Given the description of an element on the screen output the (x, y) to click on. 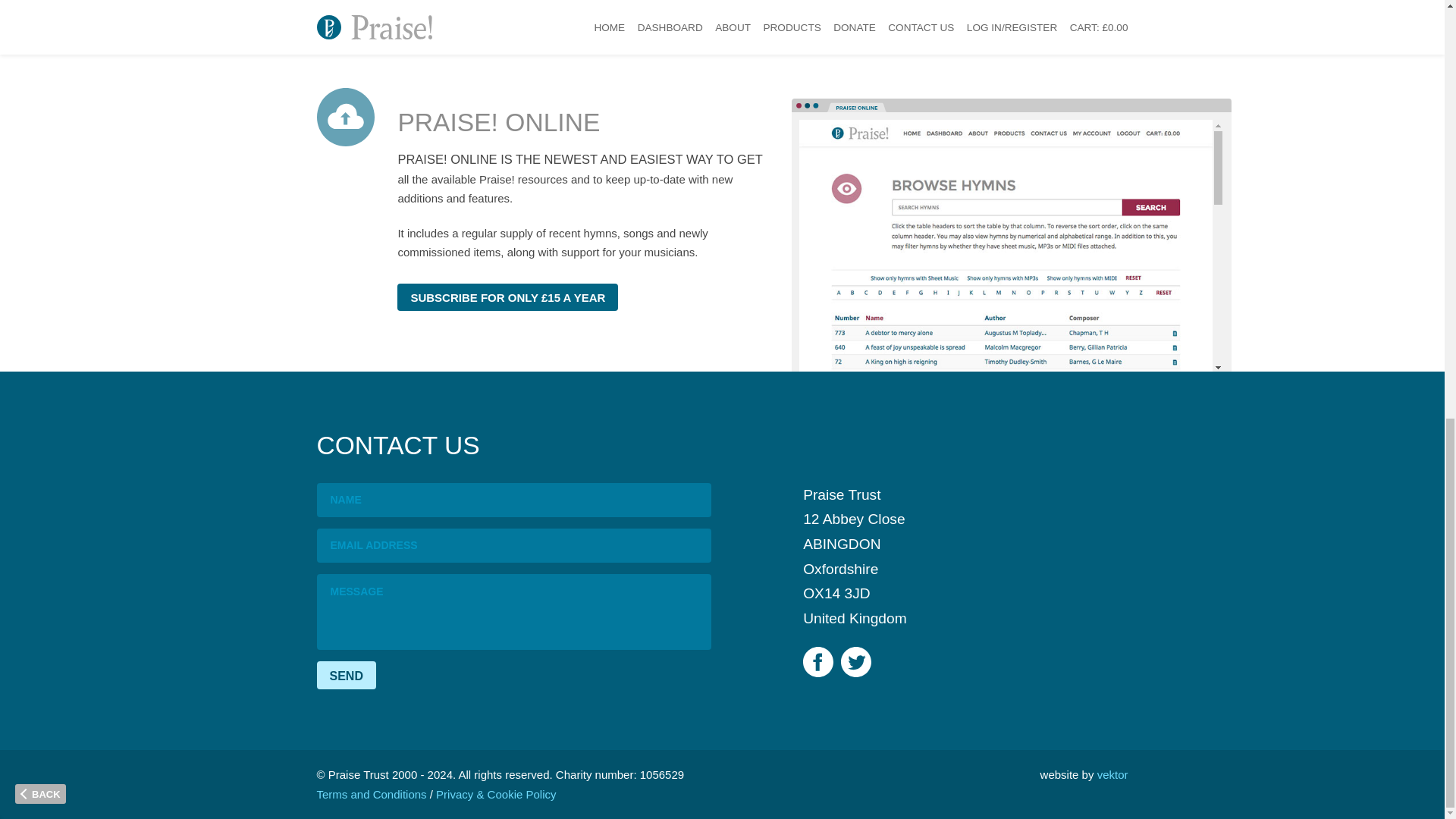
Facebook (817, 662)
Send (346, 674)
Twitter (855, 662)
